Given the description of an element on the screen output the (x, y) to click on. 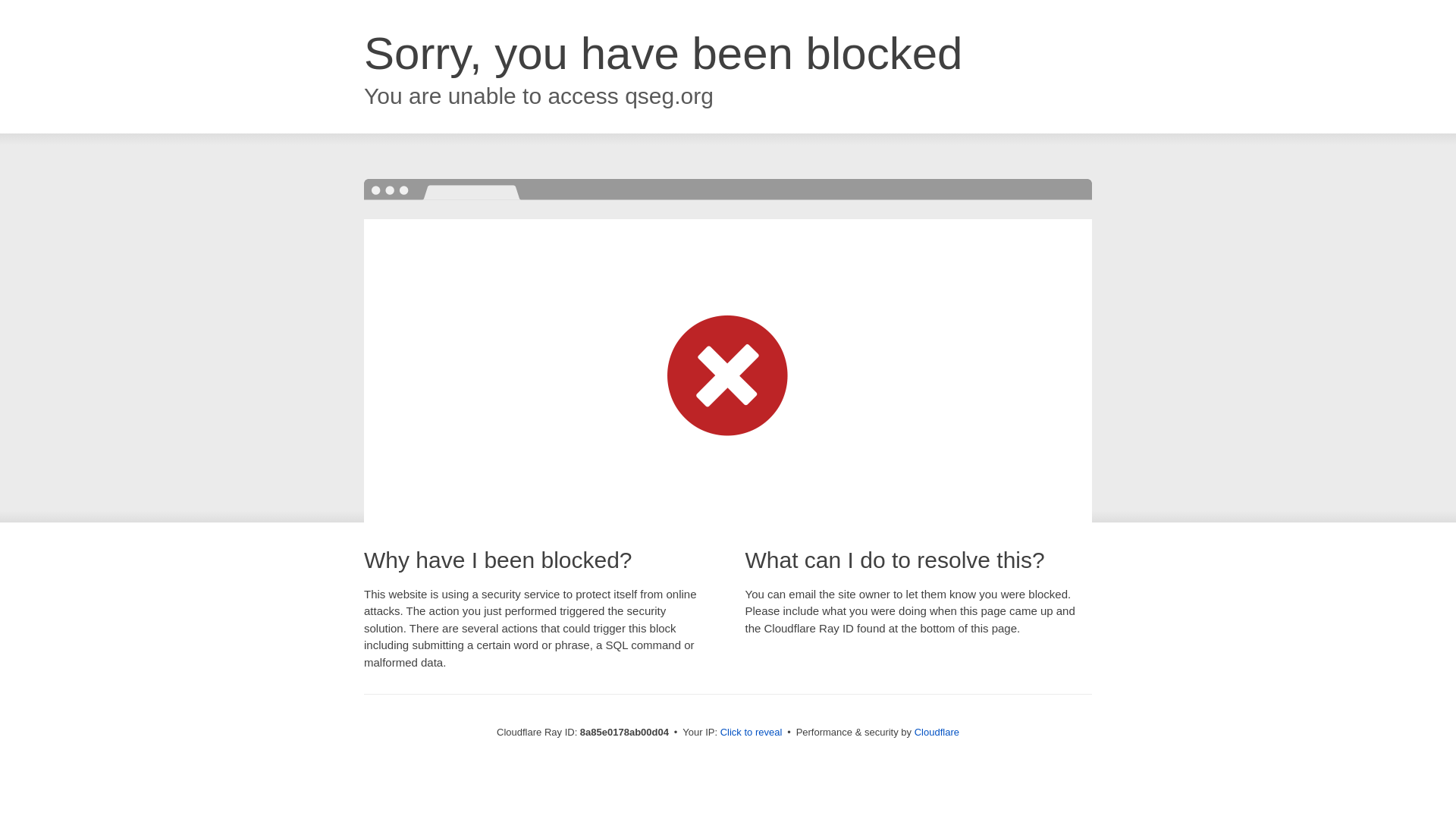
Click to reveal (751, 732)
Cloudflare (936, 731)
